Given the description of an element on the screen output the (x, y) to click on. 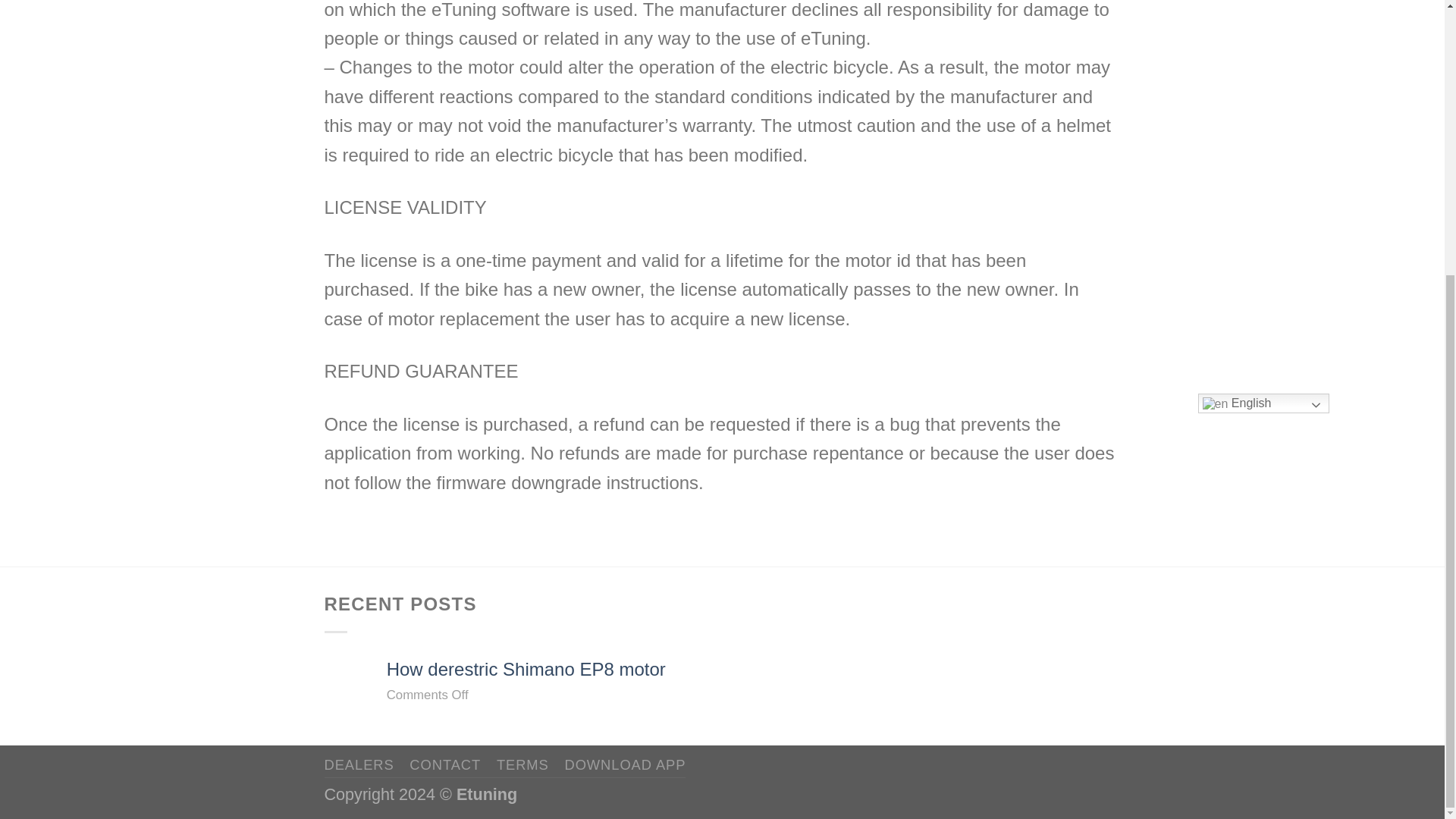
DOWNLOAD APP (624, 763)
How derestric Shimano EP8 motor (754, 669)
How derestric Shimano EP8 motor (754, 669)
English (1263, 403)
DEALERS (359, 763)
TERMS (522, 763)
CONTACT (444, 763)
